Given the description of an element on the screen output the (x, y) to click on. 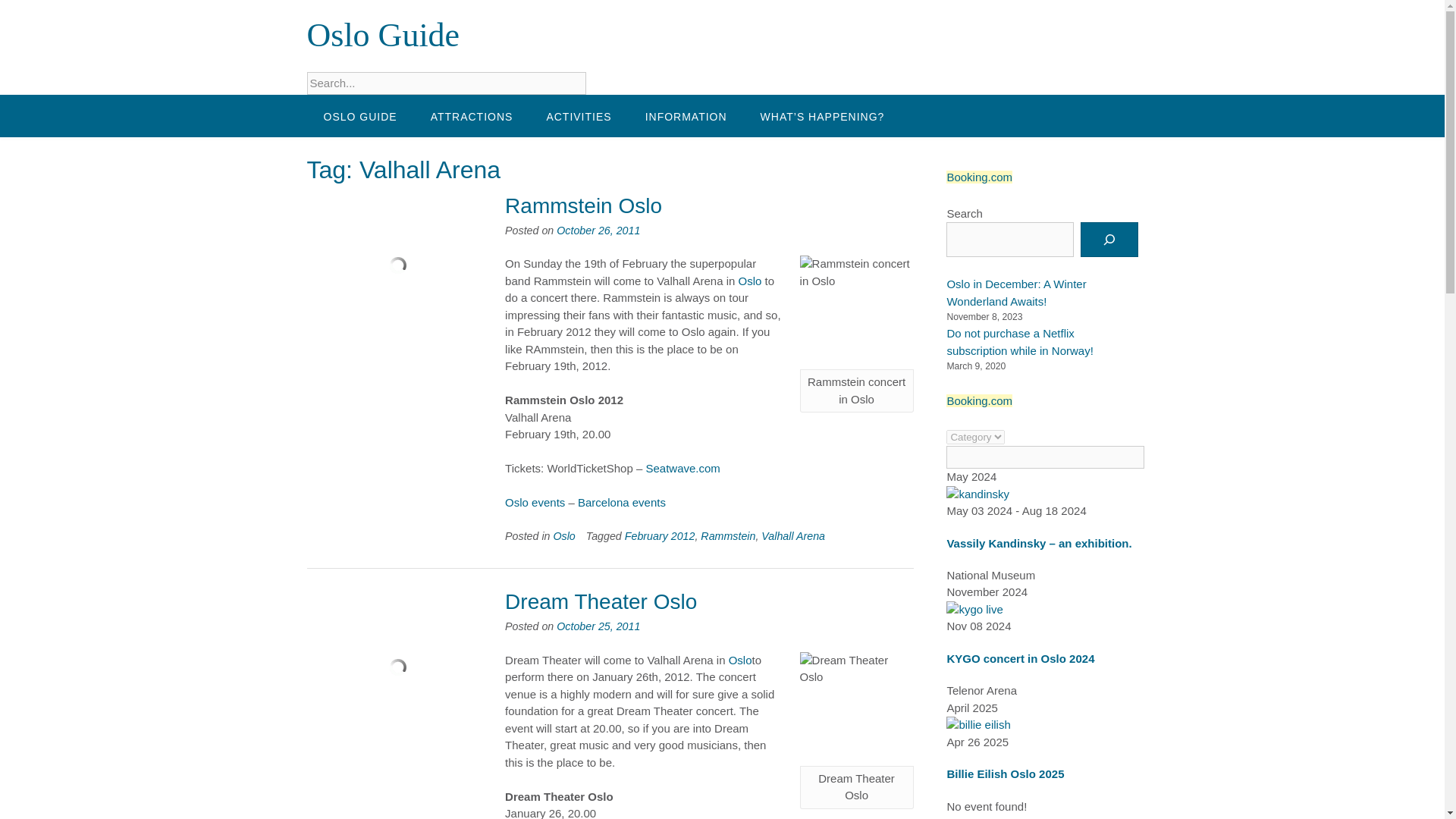
Dream Theater (856, 708)
Oslo Guide (382, 35)
Rammstein (856, 312)
ACTIVITIES (578, 116)
INFORMATION (686, 116)
Oslo Guide (382, 35)
ATTRACTIONS (471, 116)
OSLO GUIDE (359, 116)
Search for: (445, 83)
